Given the description of an element on the screen output the (x, y) to click on. 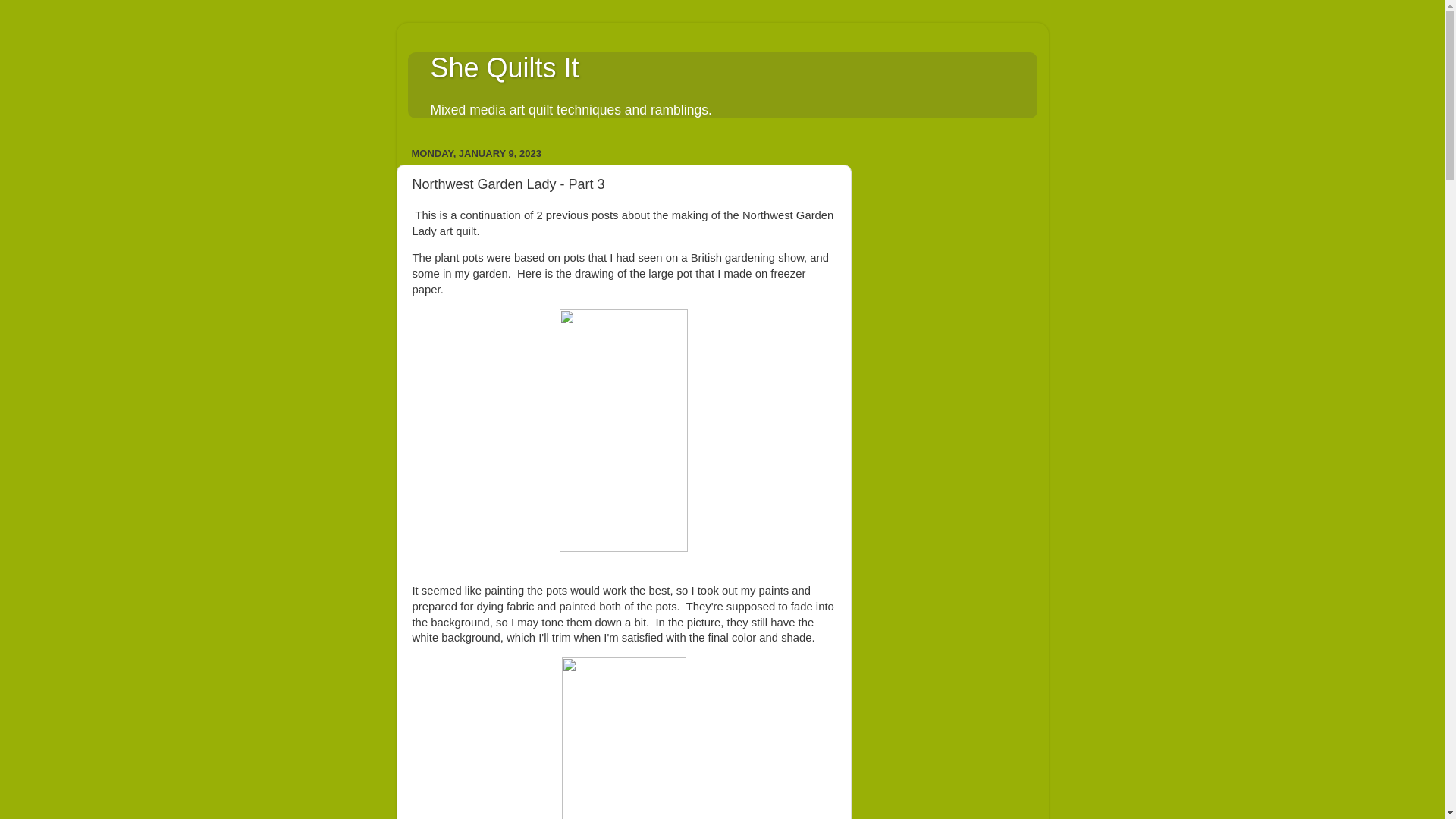
She Quilts It (504, 67)
